Given the description of an element on the screen output the (x, y) to click on. 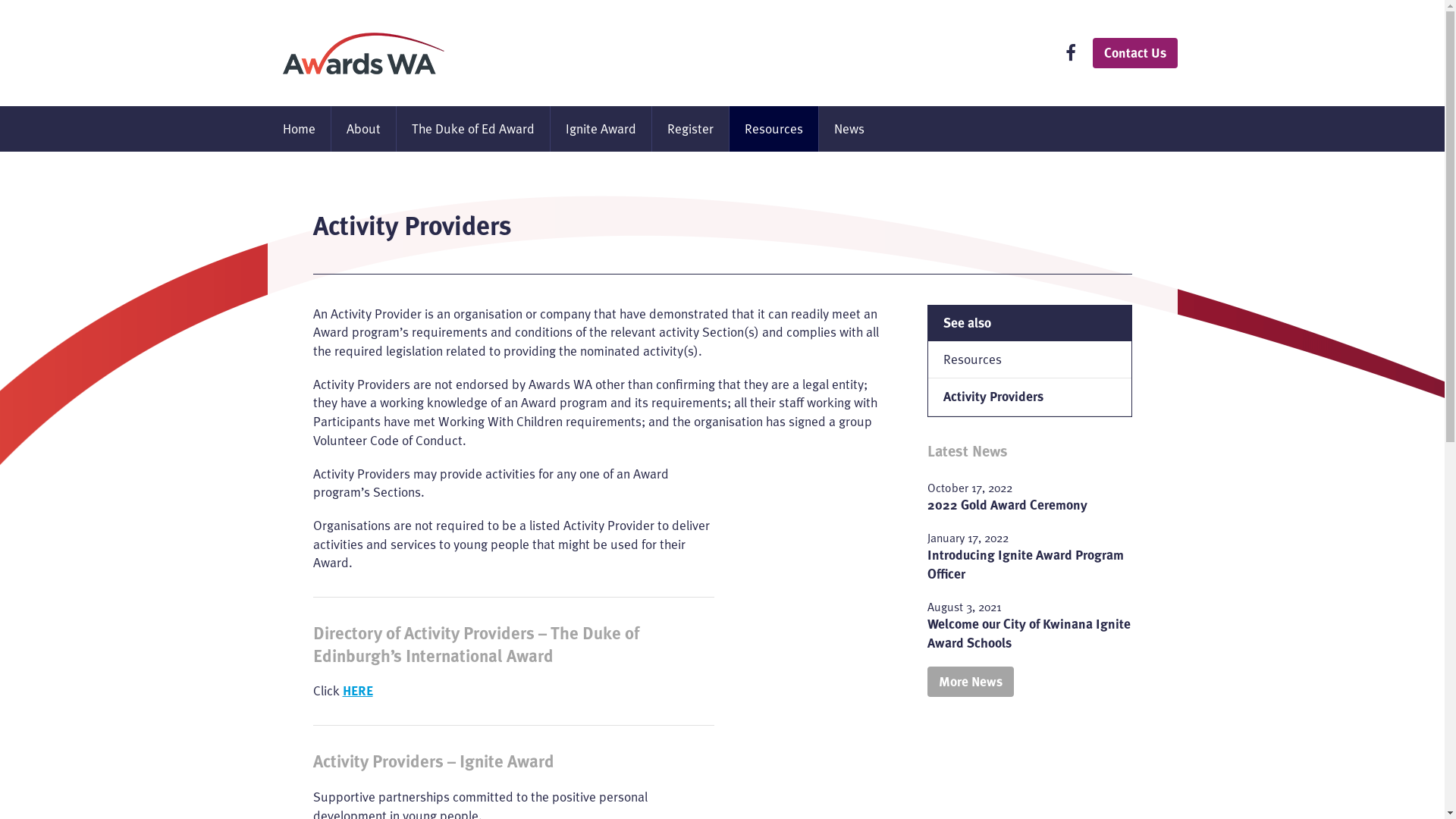
Awards WA on Facebook Element type: hover (1069, 54)
Register Element type: text (690, 128)
Resources Element type: text (1029, 360)
Resources Element type: text (773, 128)
About Element type: text (362, 128)
News Element type: text (849, 128)
Introducing Ignite Award Program Officer Element type: text (1024, 564)
Home Element type: text (297, 128)
The Duke of Ed Award Element type: text (472, 128)
HERE Element type: text (357, 690)
More News Element type: text (969, 681)
Contact Us Element type: text (1134, 52)
Welcome our City of Kwinana Ignite Award Schools Element type: text (1027, 633)
Ignite Award Element type: text (600, 128)
Activity Providers Element type: text (1029, 397)
2022 Gold Award Ceremony Element type: text (1006, 504)
Awards WA Element type: hover (362, 52)
